Given the description of an element on the screen output the (x, y) to click on. 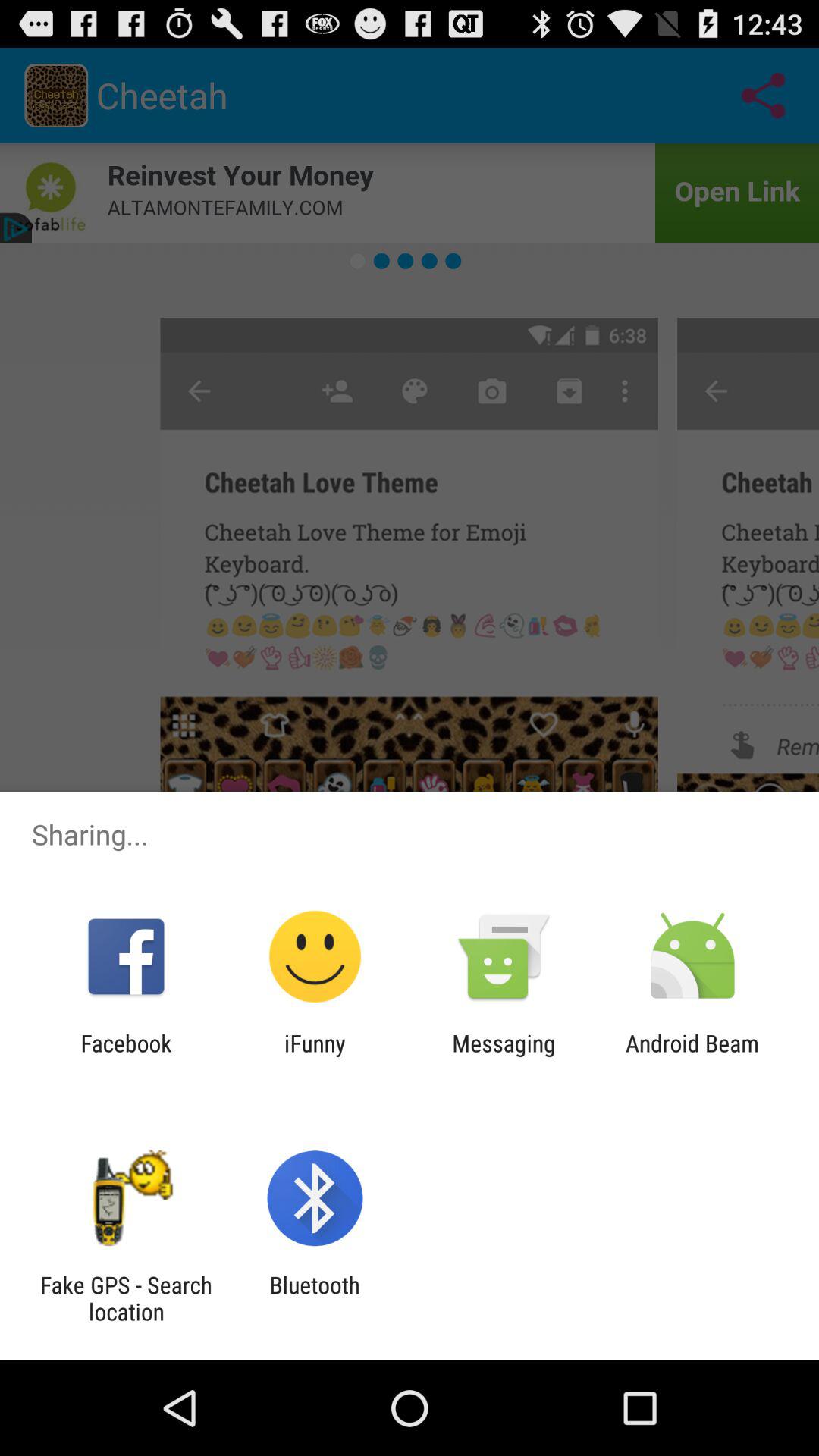
turn off the app next to the messaging app (692, 1056)
